Given the description of an element on the screen output the (x, y) to click on. 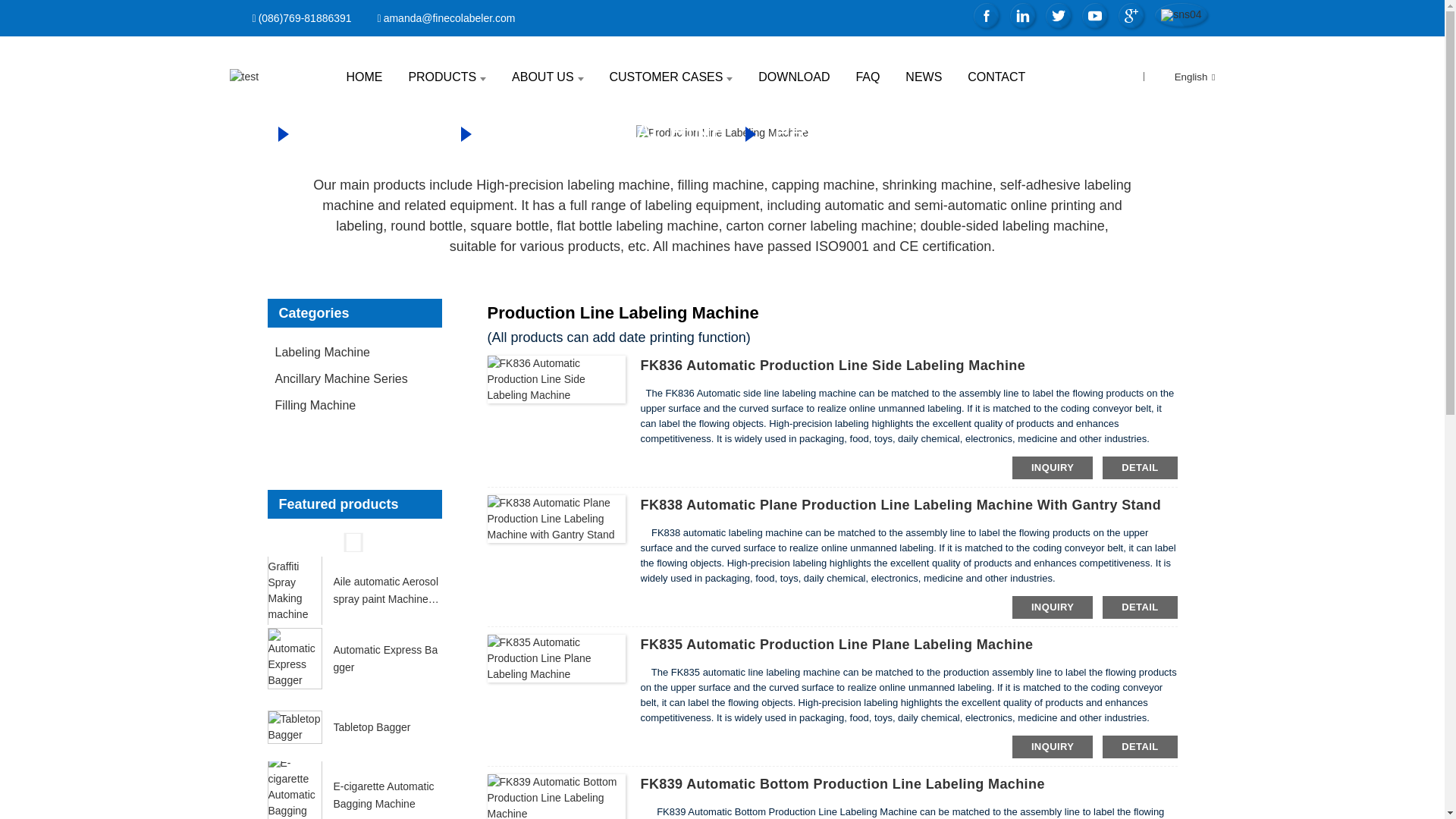
Products (375, 131)
Labeling Machine (607, 131)
FK835 Automatic Production Line Plane Labeling Machine (836, 644)
HOME (364, 76)
PRODUCTS (446, 76)
FK836 Automatic Production Line Side Labeling Machine (832, 365)
FK839 Automatic Bottom Production Line Labeling Machine (841, 783)
